Given the description of an element on the screen output the (x, y) to click on. 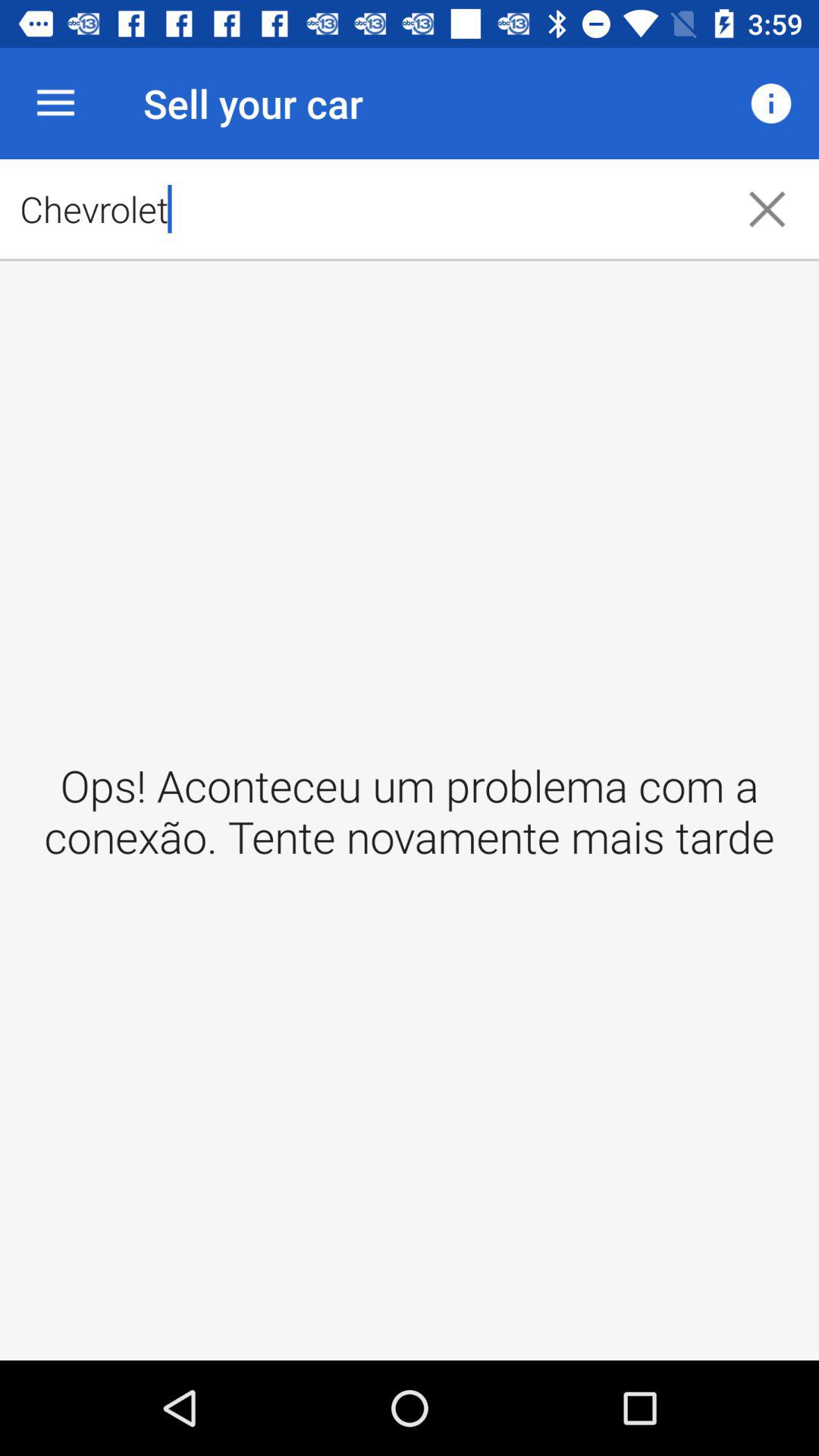
open icon above the chevrolet icon (771, 103)
